Given the description of an element on the screen output the (x, y) to click on. 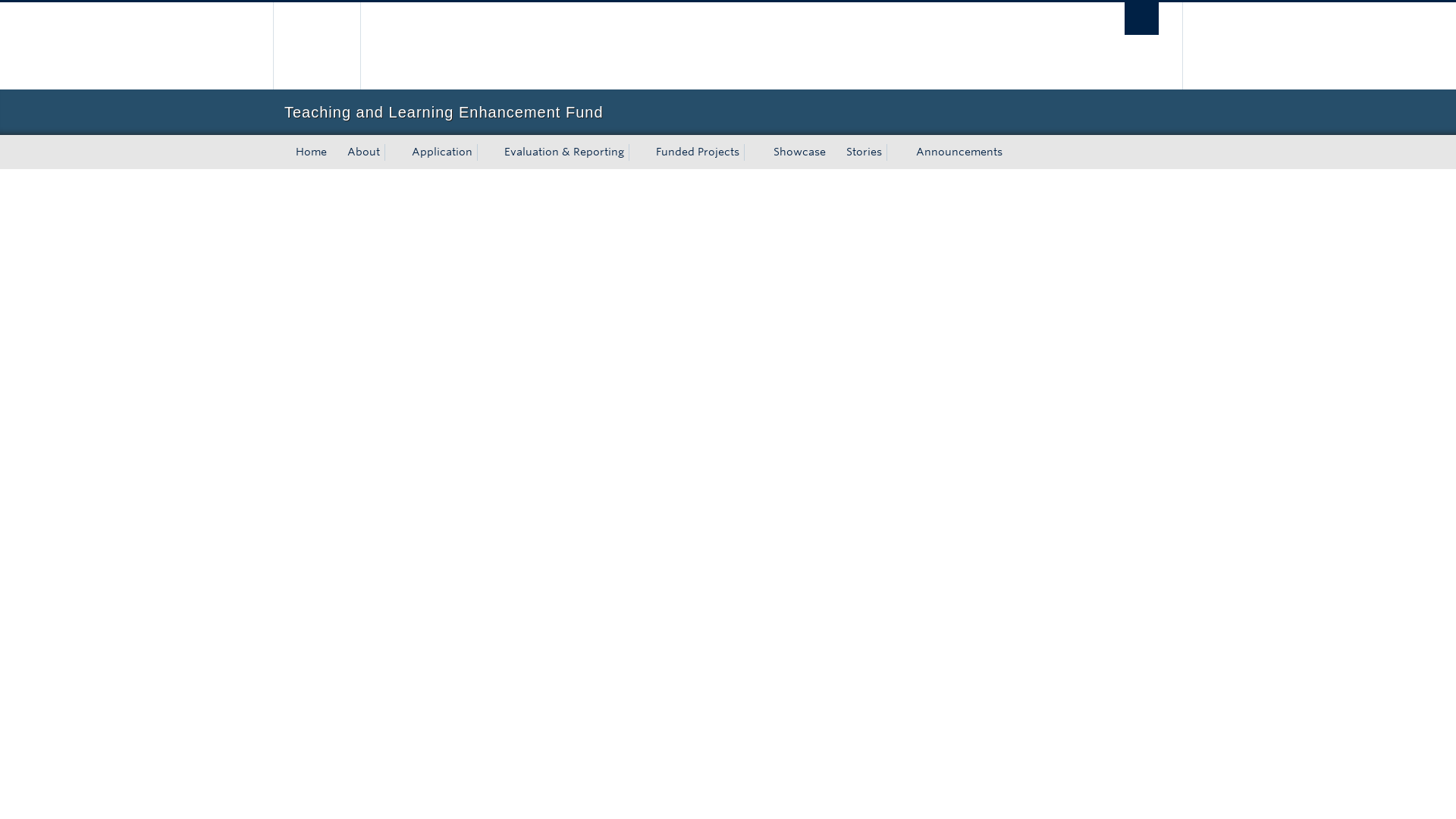
Home (310, 151)
Application (440, 151)
The University of British Columbia (316, 45)
Teaching and Learning Enhancement Fund (727, 112)
UBC Search (1141, 18)
Funded Projects (695, 151)
About (361, 151)
The University of British Columbia (641, 45)
Teaching and Learning Enhancement Fund (727, 112)
